Given the description of an element on the screen output the (x, y) to click on. 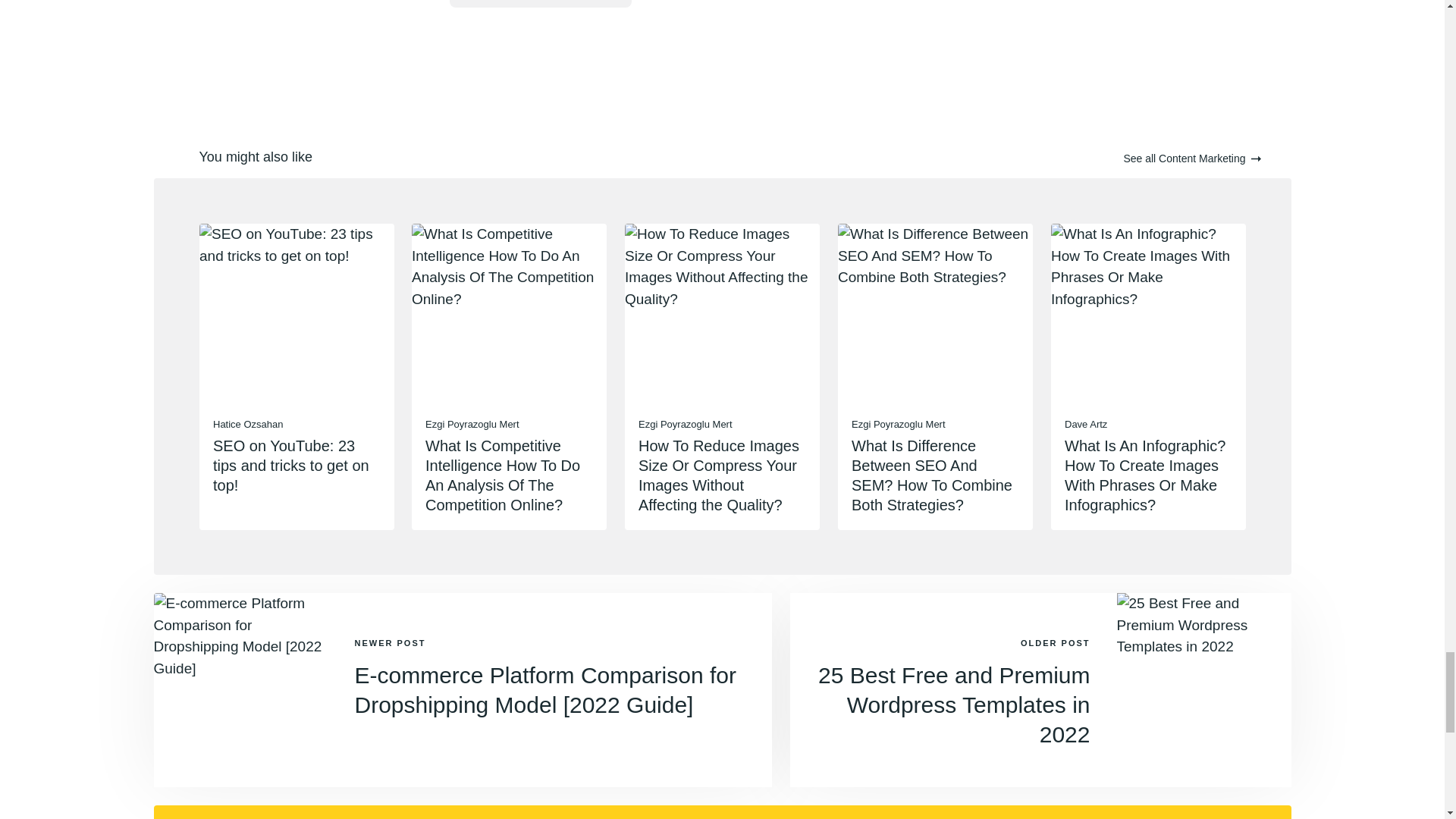
Ezgi Poyrazoglu Mert (685, 423)
SEO on YouTube: 23 tips and tricks to get on top! (290, 464)
Ezgi Poyrazoglu Mert (472, 423)
Ezgi Poyrazoglu Mert (897, 423)
25 Best Free and Premium Wordpress Templates in 2022 (954, 704)
Hatice Ozsahan (247, 423)
Dave Artz (1085, 423)
See all Content Marketing (1191, 159)
